Given the description of an element on the screen output the (x, y) to click on. 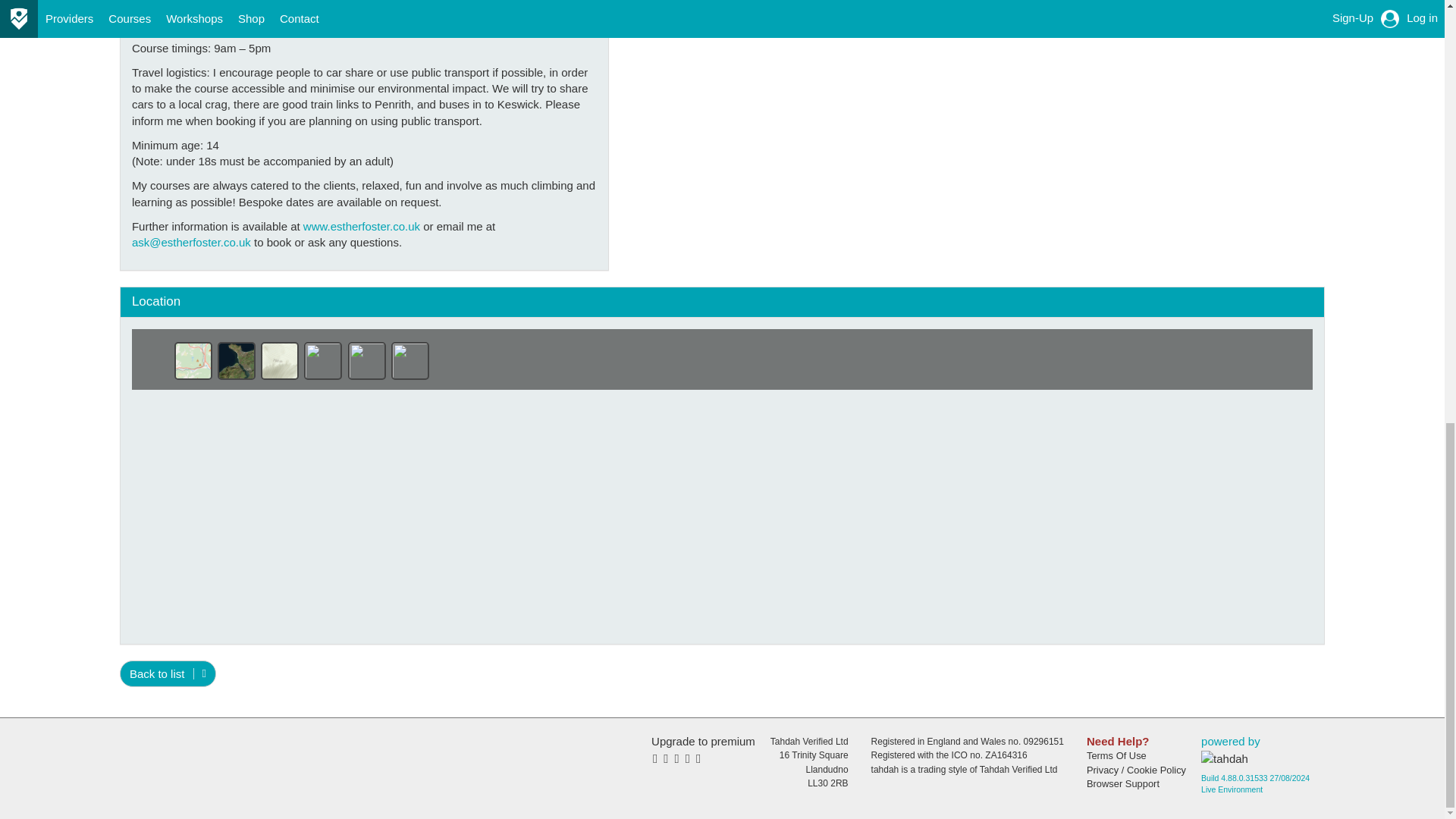
Browser Support (1136, 784)
Back to list (167, 673)
ZA164316 (1005, 755)
09296151 (1043, 741)
Terms Of Use (1136, 755)
Upgrade to premium (702, 749)
Need Help? (1136, 741)
www.estherfoster.co.uk (361, 226)
